Given the description of an element on the screen output the (x, y) to click on. 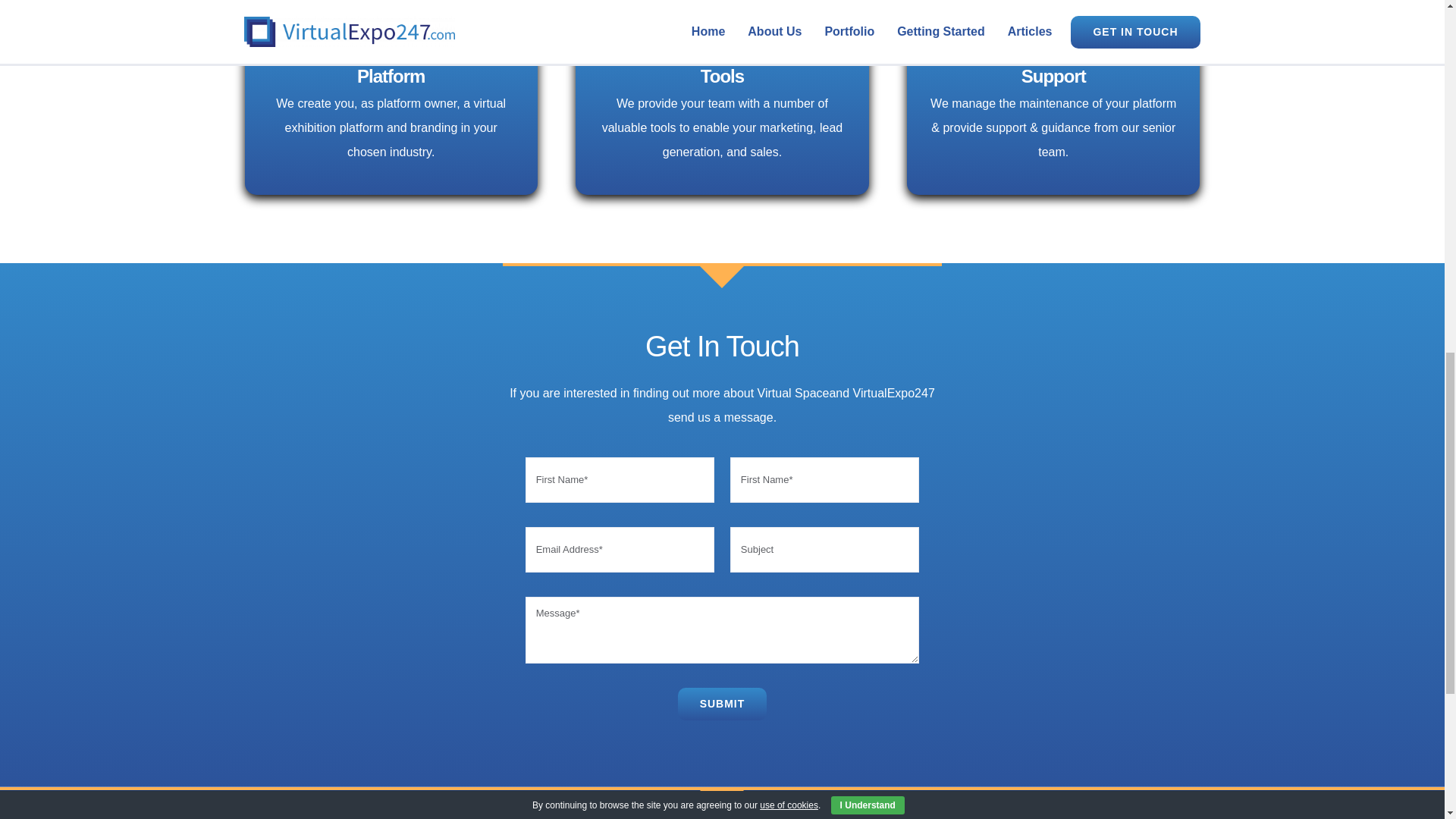
SUBMIT (722, 703)
SUBMIT (722, 595)
